Given the description of an element on the screen output the (x, y) to click on. 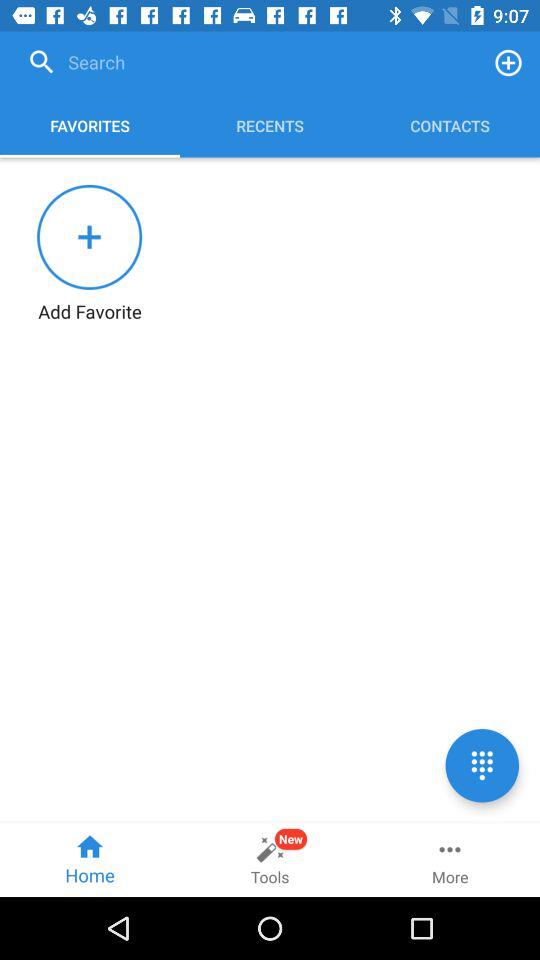
add favorite (508, 62)
